Given the description of an element on the screen output the (x, y) to click on. 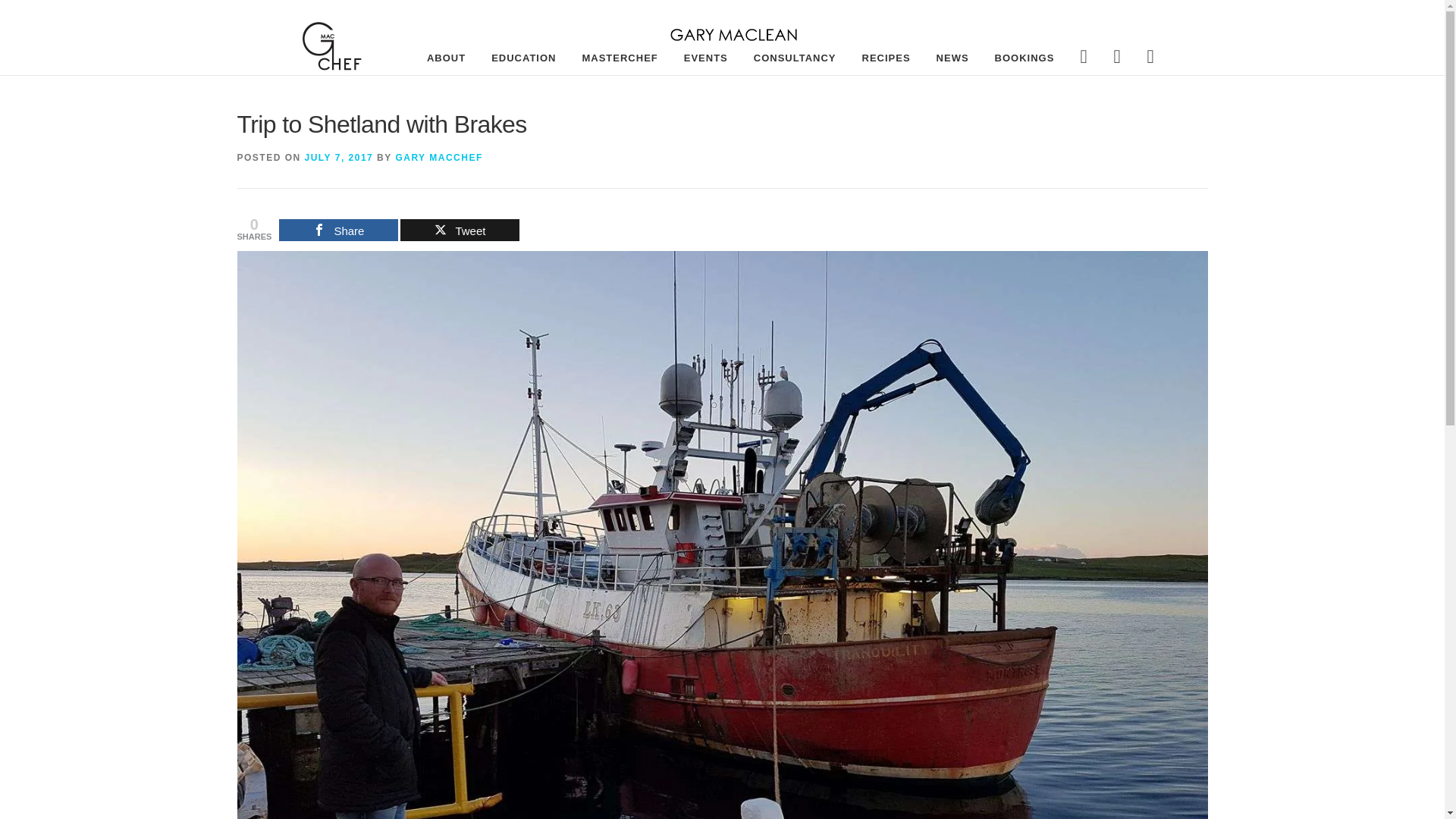
CONSULTANCY (794, 57)
MASTERCHEF (619, 57)
EDUCATION (524, 57)
BOOKINGS (1024, 57)
GARY MACCHEF (437, 157)
JULY 7, 2017 (339, 157)
EVENTS (706, 57)
RECIPES (885, 57)
ABOUT (446, 57)
NEWS (952, 57)
Share (338, 229)
Tweet (459, 229)
